Given the description of an element on the screen output the (x, y) to click on. 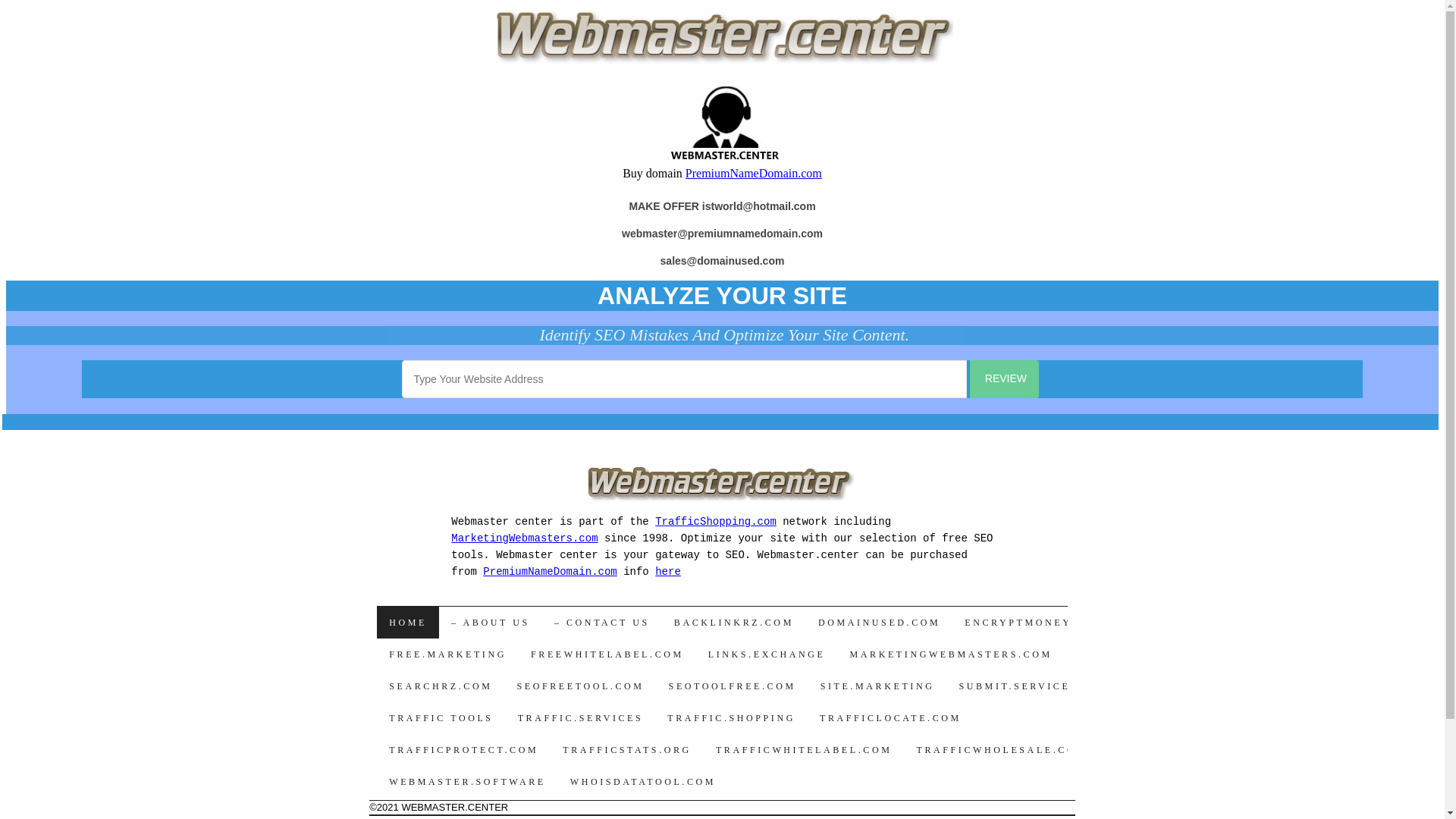
WHOISDATATOOL.COM Element type: text (643, 781)
TRAFFICPROTECT.COM Element type: text (463, 749)
TRAFFICWHOLESALE.COM Element type: text (1000, 749)
PremiumNameDomain.com Element type: text (549, 571)
SUBMIT.SERVICES Element type: text (1017, 686)
HOME Element type: text (407, 622)
SEOTOOLFREE.COM Element type: text (732, 686)
TRAFFIC TOOLS Element type: text (440, 718)
TrafficShopping.com Element type: text (715, 521)
ENCRYPTMONEY.COM Element type: text (1034, 622)
DOMAINUSED.COM Element type: text (879, 622)
MARKETINGWEBMASTERS.COM Element type: text (950, 654)
MarketingWebmasters.com Element type: text (524, 538)
here Element type: text (667, 571)
BACKLINKRZ.COM Element type: text (734, 622)
TRAFFIC.SHOPPING Element type: text (731, 718)
FREEWHITELABEL.COM Element type: text (607, 654)
SITE.MARKETING Element type: text (877, 686)
TRAFFICWHITELABEL.COM Element type: text (803, 749)
 REVIEW Element type: text (1003, 379)
TRAFFICLOCATE.COM Element type: text (890, 718)
WEBMASTER.SOFTWARE Element type: text (466, 781)
SEARCHRZ.COM Element type: text (440, 686)
TRAFFICSTATS.ORG Element type: text (626, 749)
TRAFFIC.SERVICES Element type: text (580, 718)
SEOFREETOOL.COM Element type: text (579, 686)
PremiumNameDomain.com Element type: text (753, 172)
LINKS.EXCHANGE Element type: text (766, 654)
FREE.MARKETING Element type: text (447, 654)
